Given the description of an element on the screen output the (x, y) to click on. 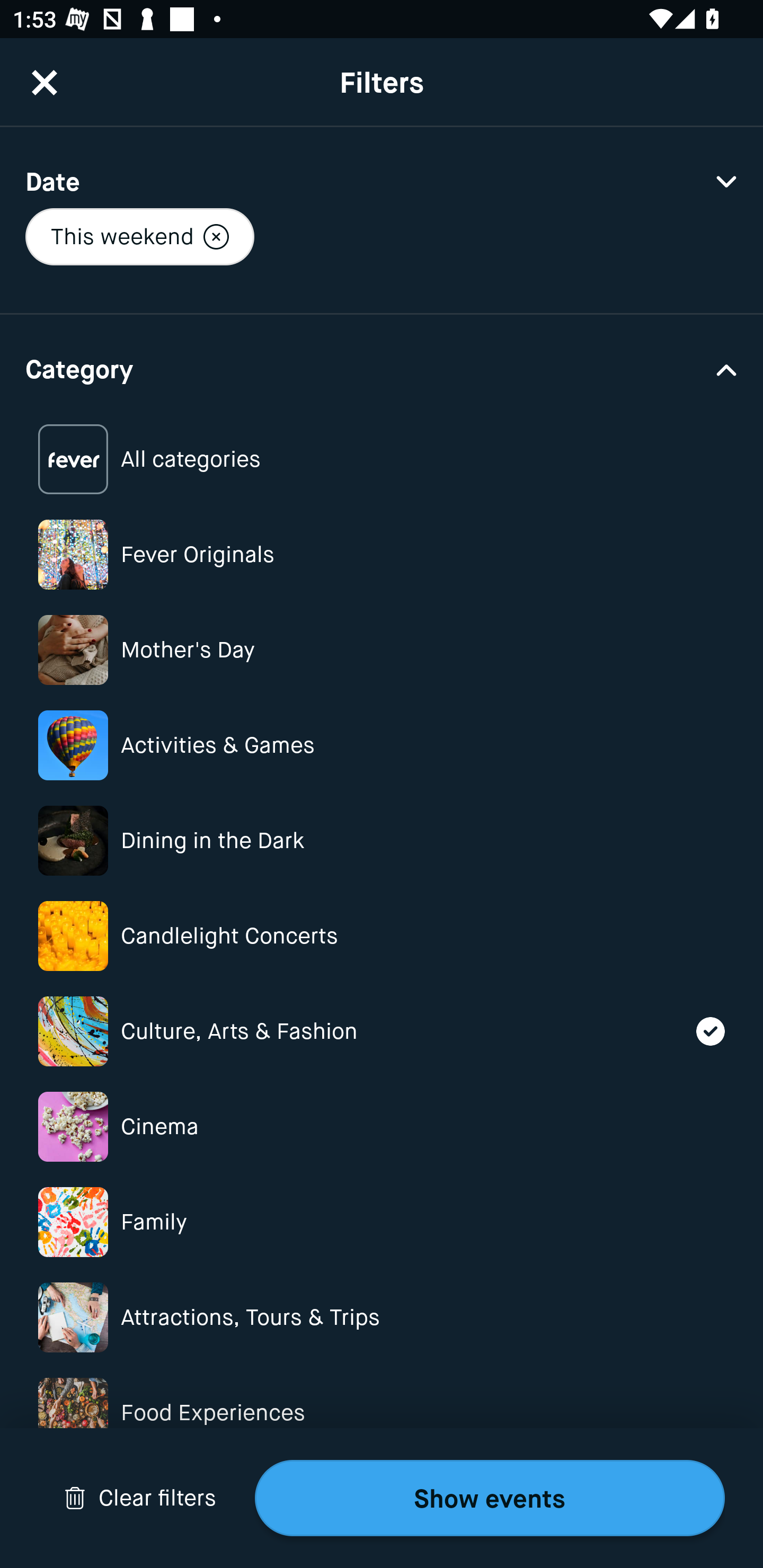
CloseButton (44, 82)
This weekend Localized description (139, 236)
Category Drop Down Arrow (381, 368)
Category Image All categories (381, 459)
Category Image Fever Originals (381, 553)
Category Image Mother's Day (381, 649)
Category Image Activities & Games (381, 745)
Category Image Dining in the Dark (381, 840)
Category Image Candlelight Concerts (381, 935)
Category Image Cinema (381, 1126)
Category Image Family (381, 1221)
Category Image Attractions, Tours & Trips (381, 1317)
Category Image Food Experiences (381, 1412)
Drop Down Arrow Clear filters (139, 1497)
Show events (489, 1497)
